Given the description of an element on the screen output the (x, y) to click on. 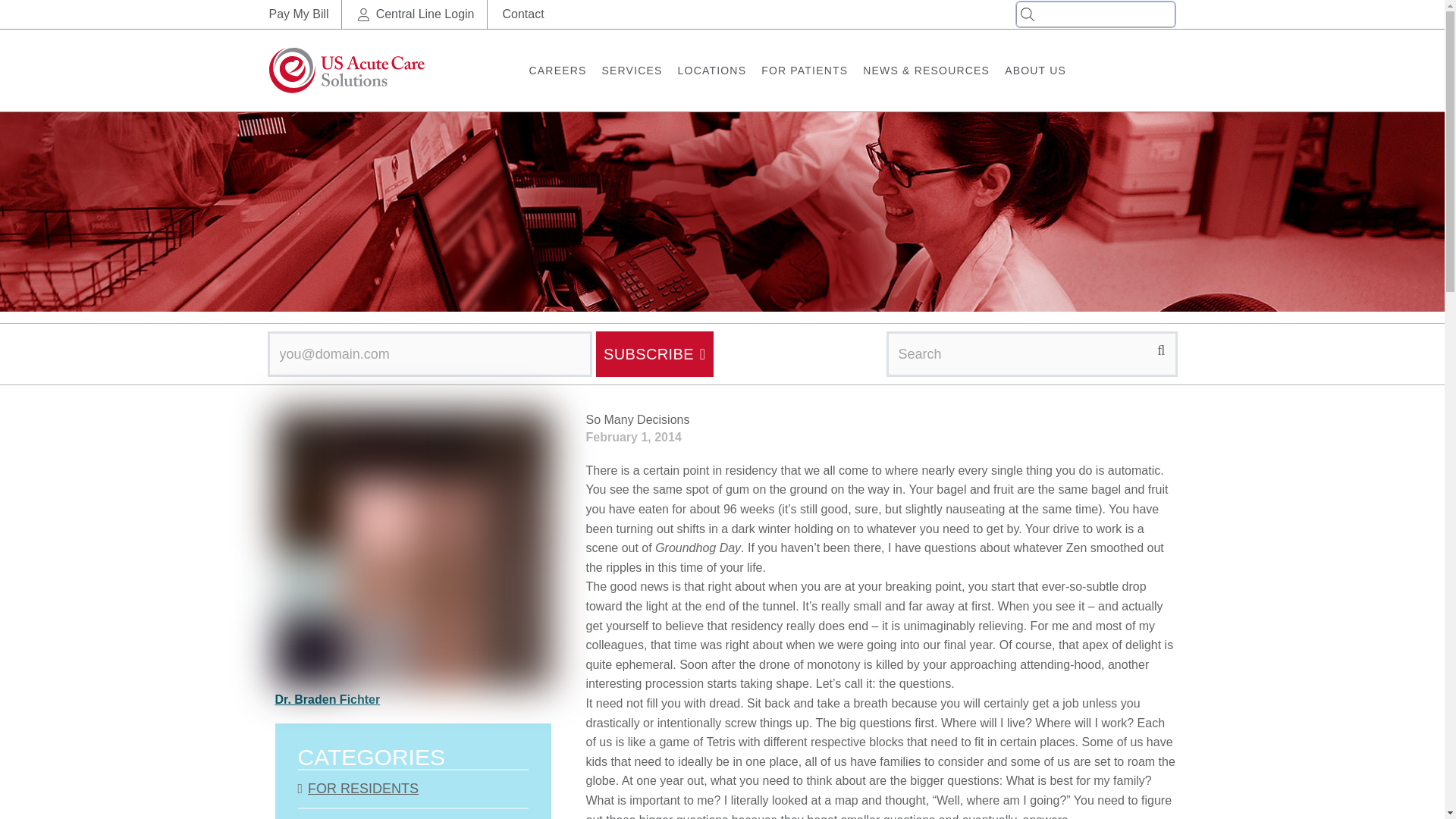
Pay My Bill (298, 14)
Central Line Login (424, 14)
Posts by Dr. Braden Fichter (327, 698)
LOCATIONS (712, 70)
Search keywords (1095, 14)
USACS (345, 70)
Contact (522, 14)
SERVICES (632, 70)
CAREERS (557, 70)
